Given the description of an element on the screen output the (x, y) to click on. 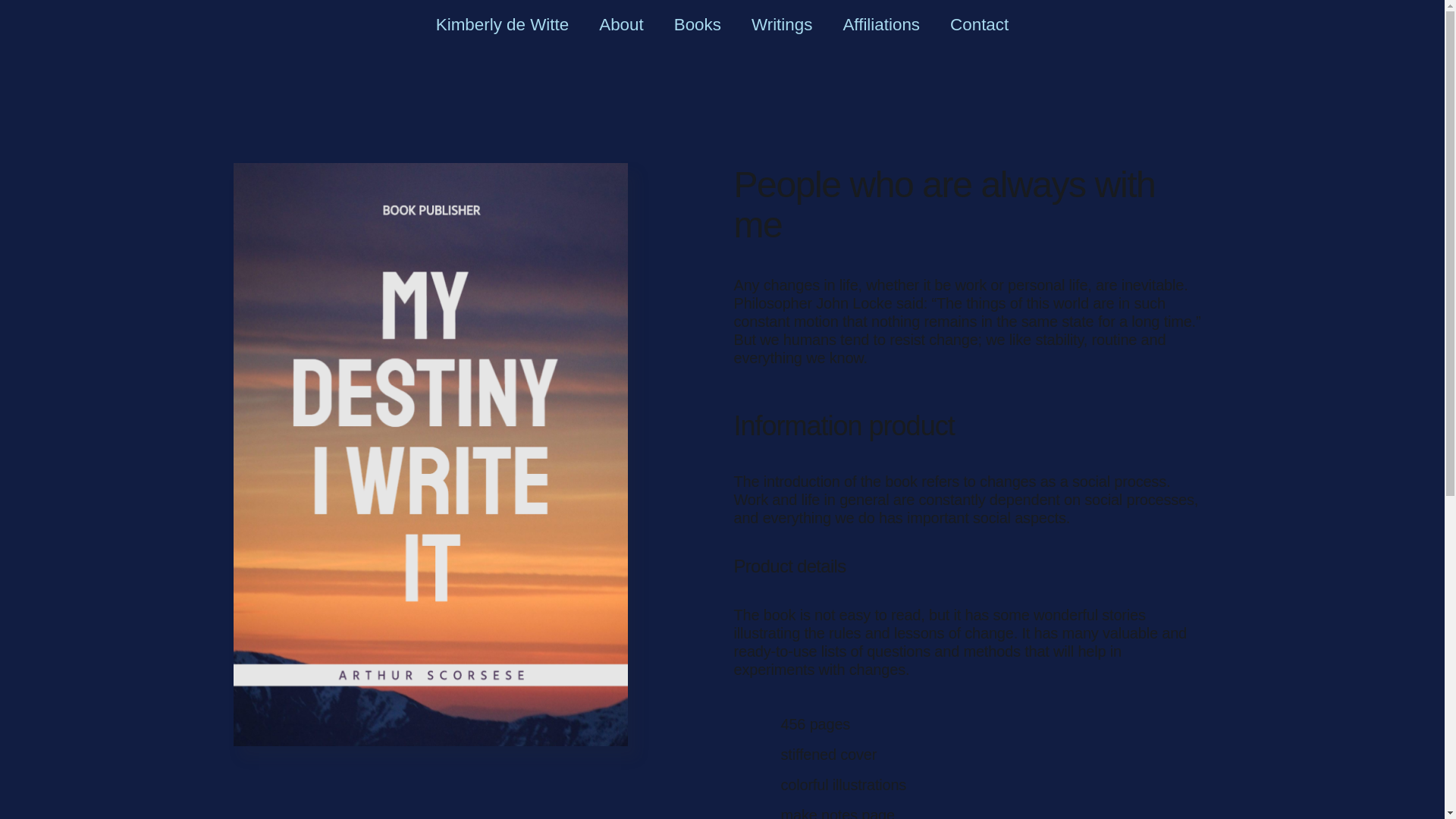
Books (697, 24)
Kimberly de Witte (501, 24)
About (621, 24)
Writings (781, 24)
Contact (978, 24)
Affiliations (880, 24)
